Given the description of an element on the screen output the (x, y) to click on. 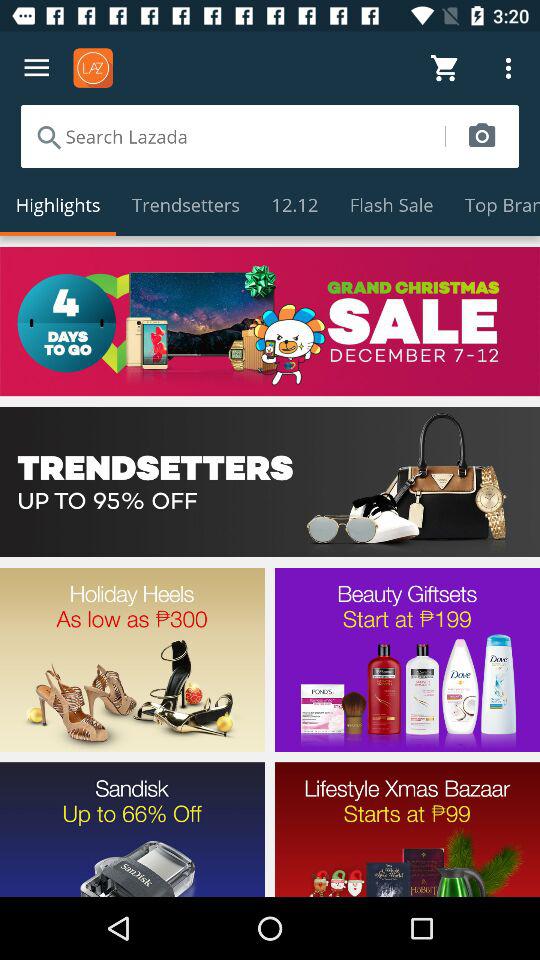
go to first advertisement (270, 321)
